Given the description of an element on the screen output the (x, y) to click on. 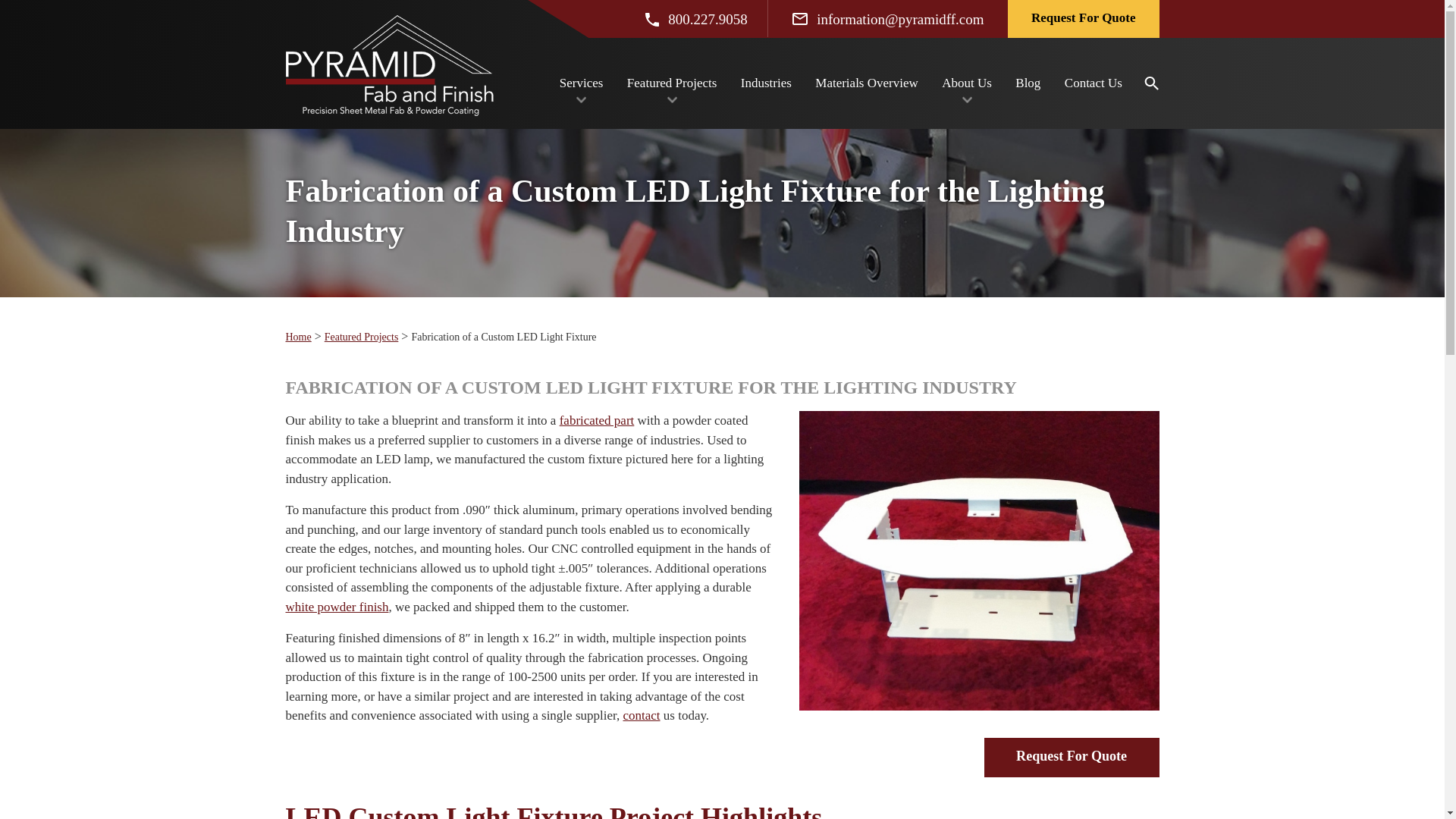
Materials Overview (866, 82)
Request For Quote (1082, 18)
Blog (1027, 82)
Contact Us (1093, 82)
fabricated part (596, 420)
Featured Projects (361, 337)
contact (641, 715)
white powder finish (336, 605)
About Us (966, 82)
Home (298, 337)
Industries (766, 82)
800.227.9058 (694, 18)
Request For Quote (1071, 757)
Featured Projects (672, 82)
Services (581, 82)
